Given the description of an element on the screen output the (x, y) to click on. 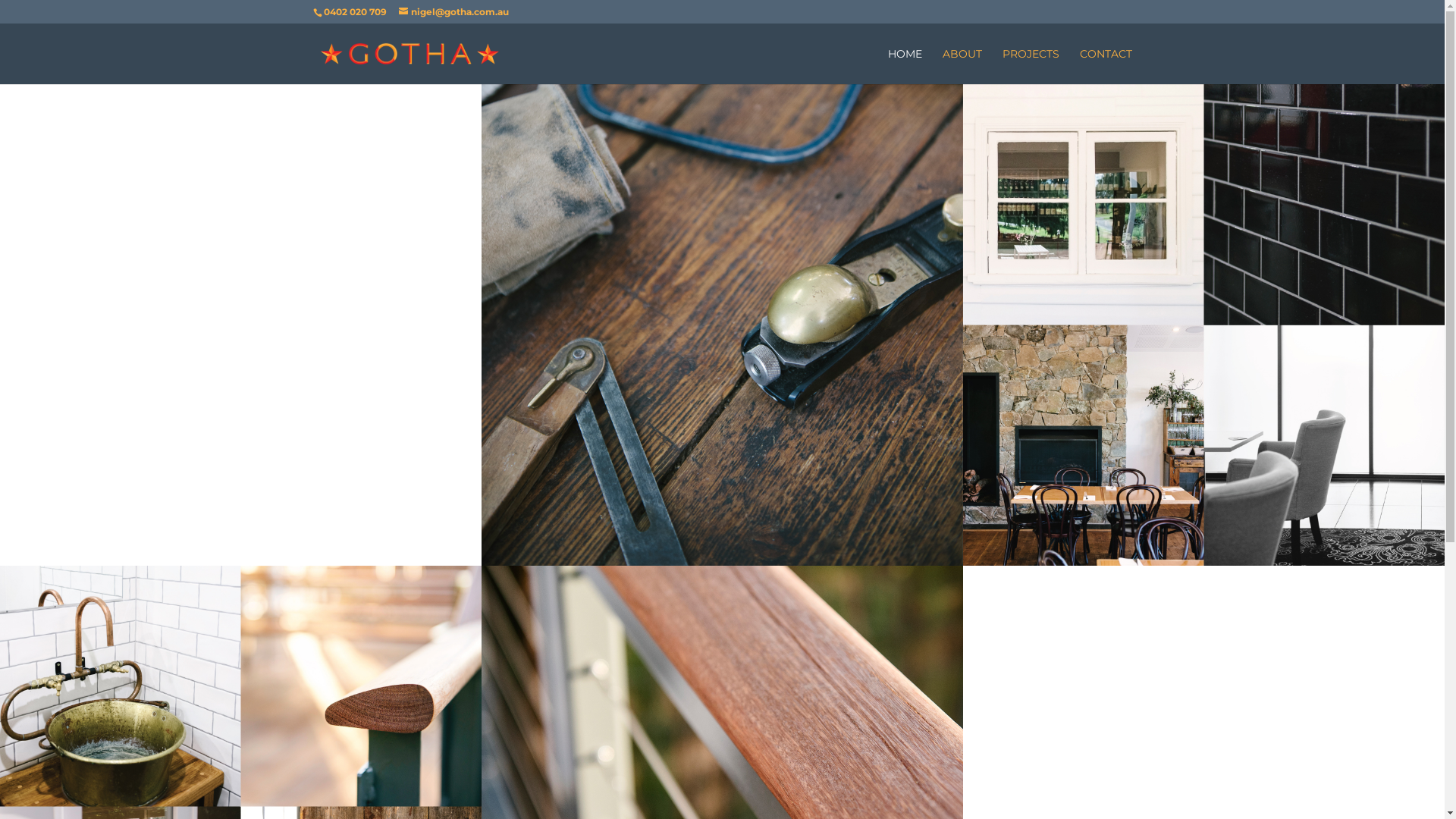
ABOUT Element type: text (961, 66)
PROJECTS Element type: text (1030, 66)
nigel@gotha.com.au Element type: text (453, 11)
CONTACT Element type: text (1105, 66)
HOME Element type: text (904, 66)
